Given the description of an element on the screen output the (x, y) to click on. 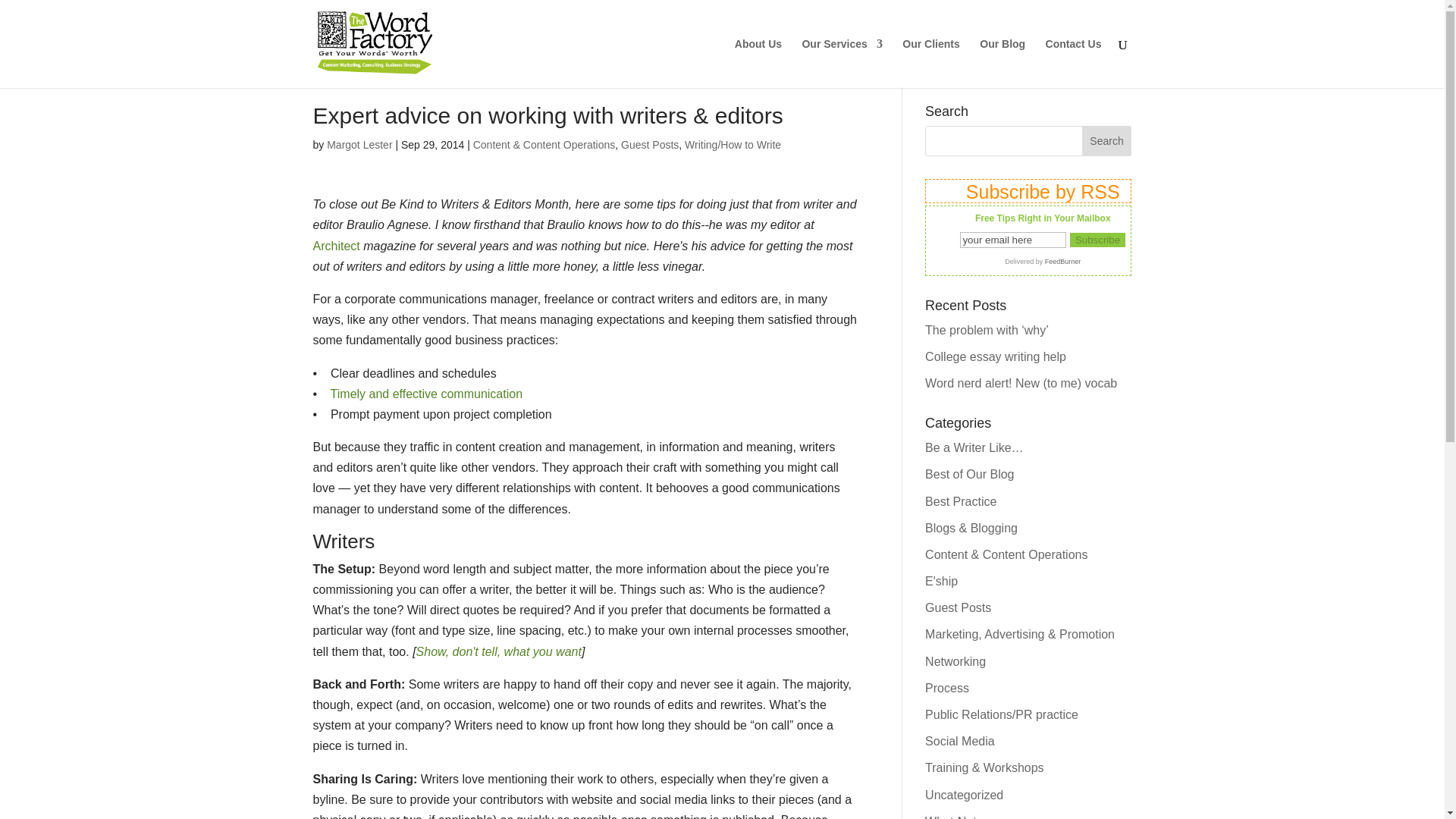
Our Blog (1002, 62)
Guest Posts (957, 607)
Our Clients (930, 62)
College essay writing help (994, 356)
Architect (336, 245)
Our Services (842, 62)
Subscribe (1097, 239)
E'ship (941, 581)
Subscribe (1097, 239)
Best Practice (959, 500)
